Given the description of an element on the screen output the (x, y) to click on. 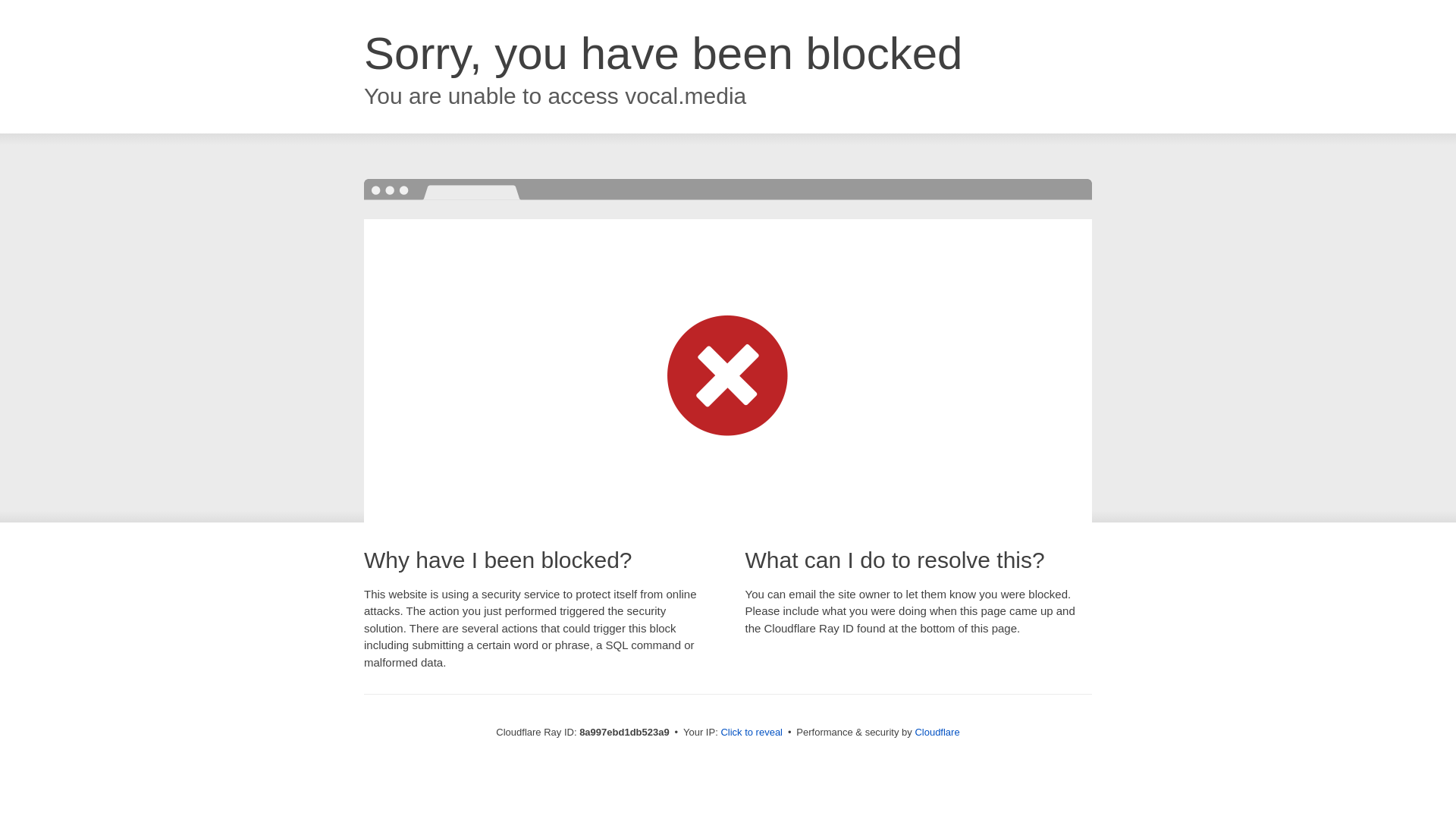
Click to reveal (751, 732)
Cloudflare (936, 731)
